Given the description of an element on the screen output the (x, y) to click on. 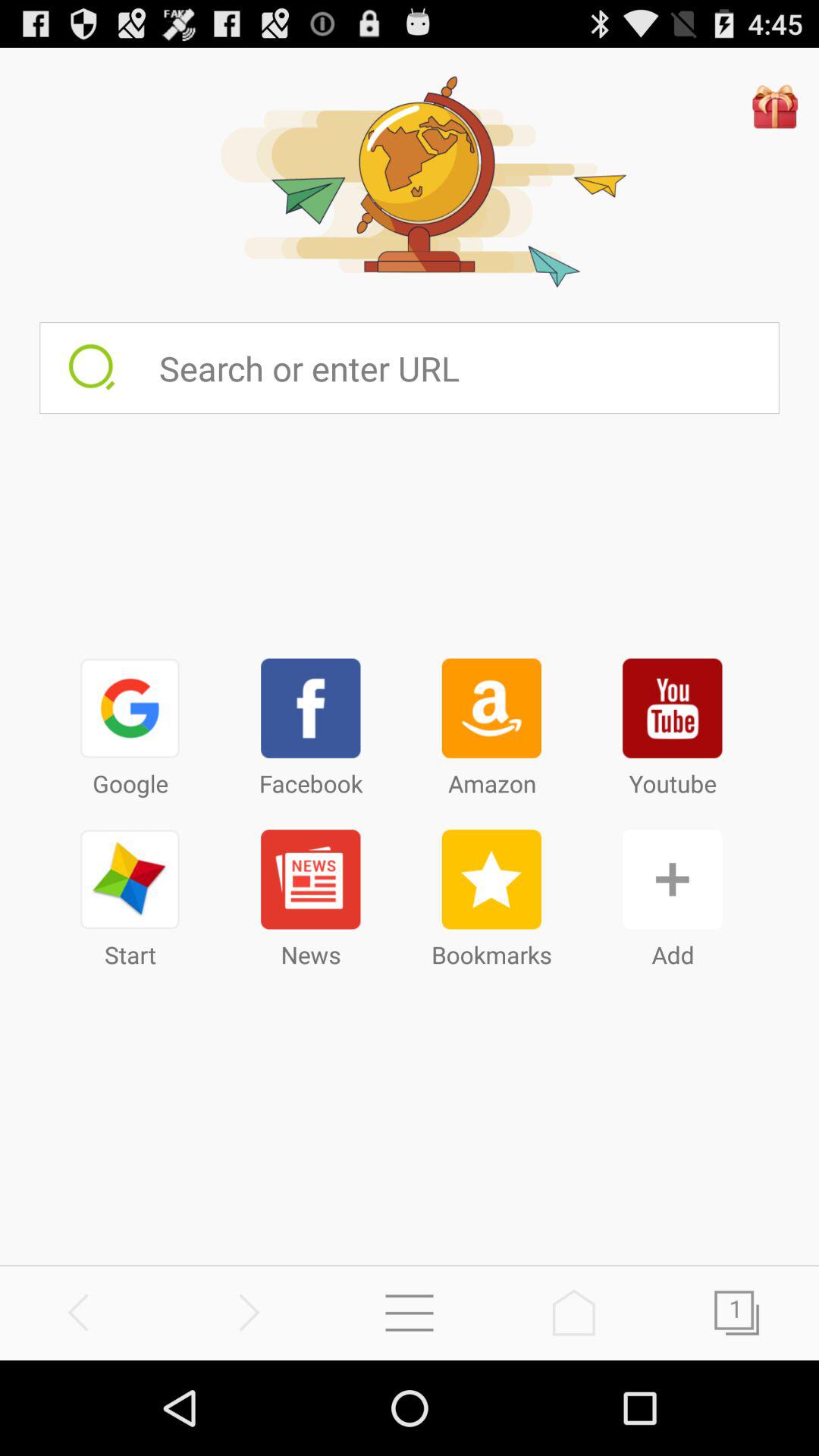
forward (245, 1312)
